Given the description of an element on the screen output the (x, y) to click on. 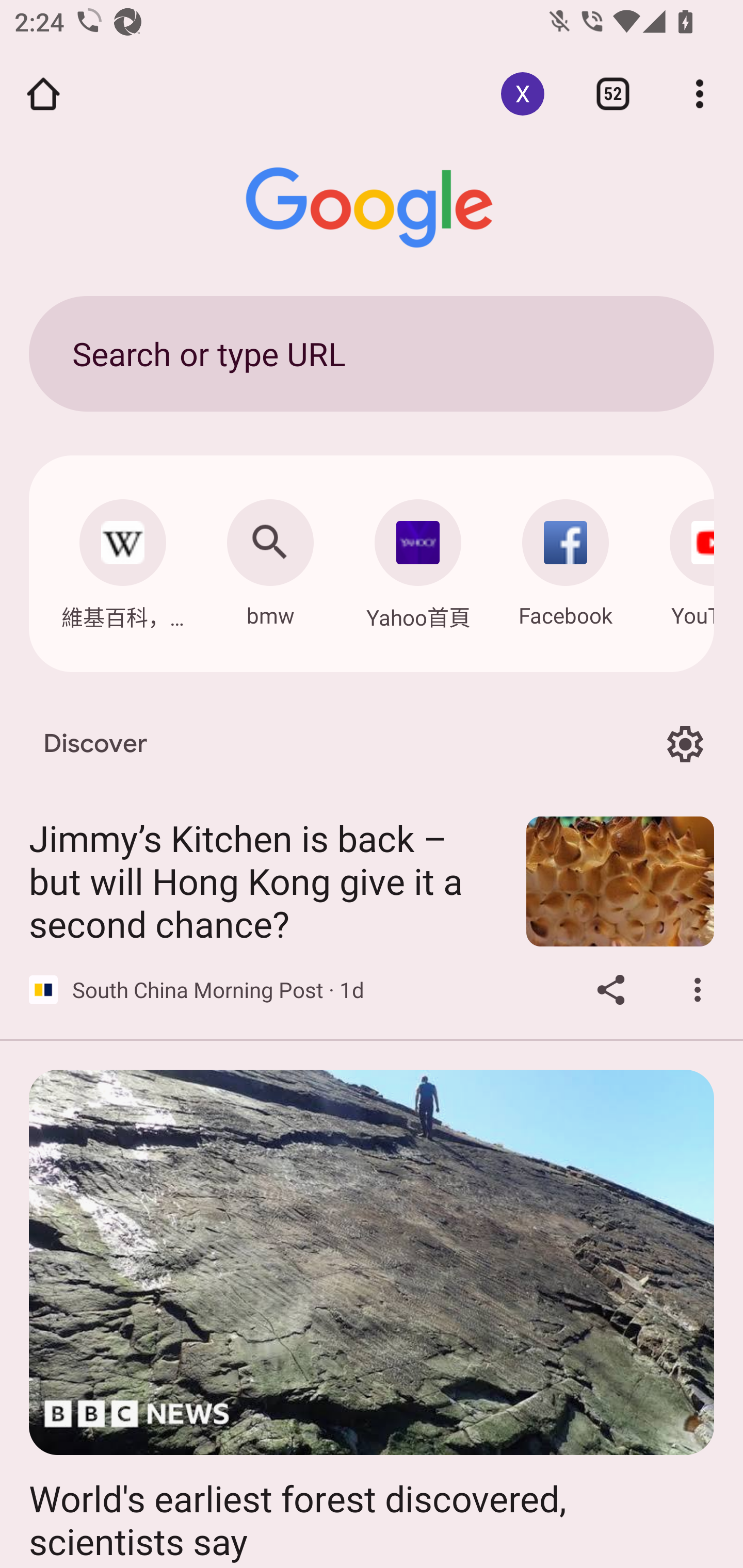
Open the home page (43, 93)
Switch or close tabs (612, 93)
Customize and control Google Chrome (699, 93)
Search or type URL (371, 353)
Search: bmw bmw (270, 558)
Navigate: Yahoo首頁: hk.mobi.yahoo.com Yahoo首頁 (417, 558)
Navigate: Facebook: m.facebook.com Facebook (565, 558)
Options for Discover (684, 743)
